Given the description of an element on the screen output the (x, y) to click on. 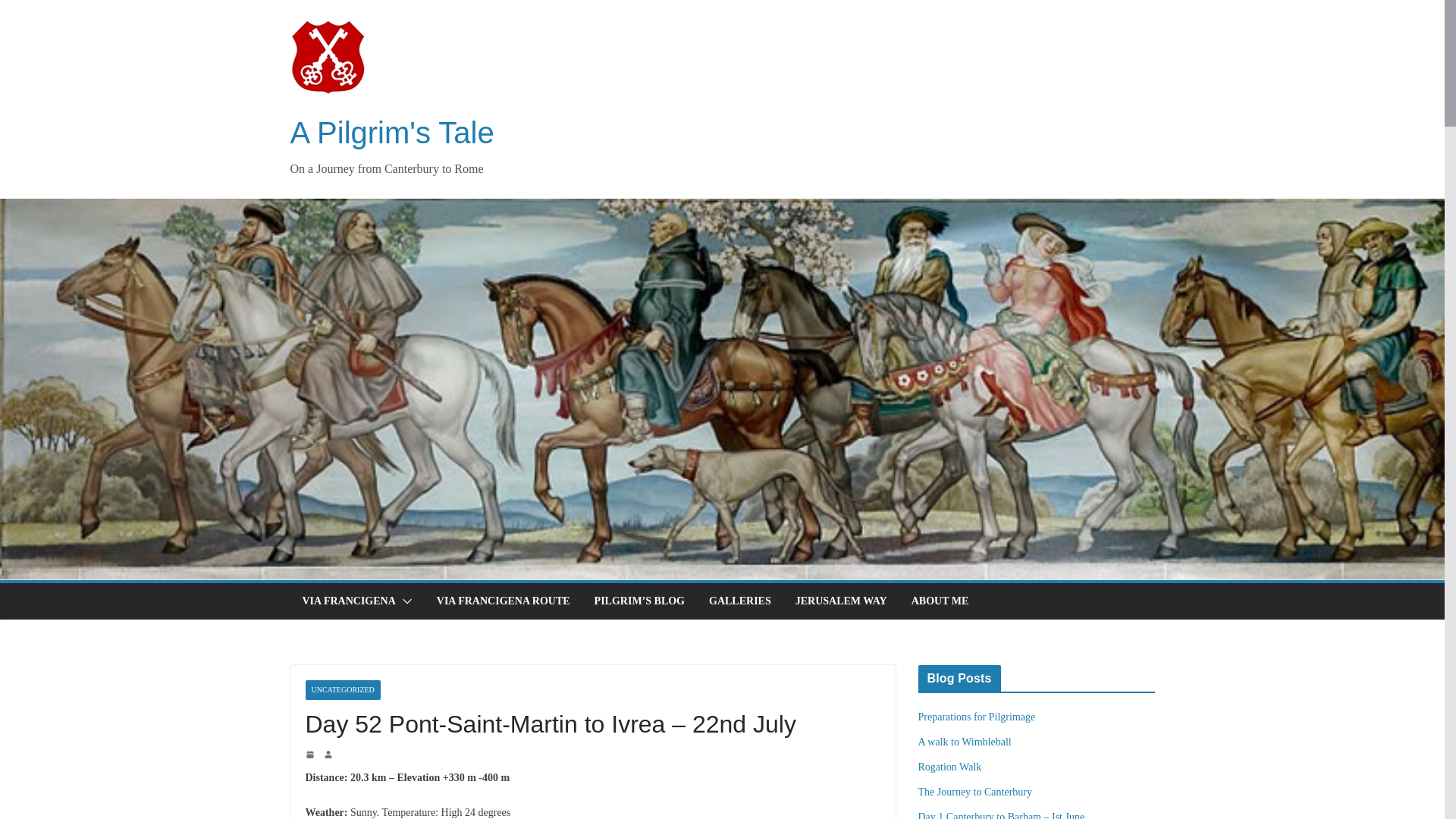
Rogation Walk (949, 767)
UNCATEGORIZED (342, 690)
ABOUT ME (940, 600)
A Pilgrim's Tale (391, 132)
VIA FRANCIGENA (347, 600)
Preparations for Pilgrimage (976, 716)
The Journey to Canterbury (973, 791)
A Pilgrim's Tale (391, 132)
GALLERIES (740, 600)
JERUSALEM WAY (840, 600)
